Given the description of an element on the screen output the (x, y) to click on. 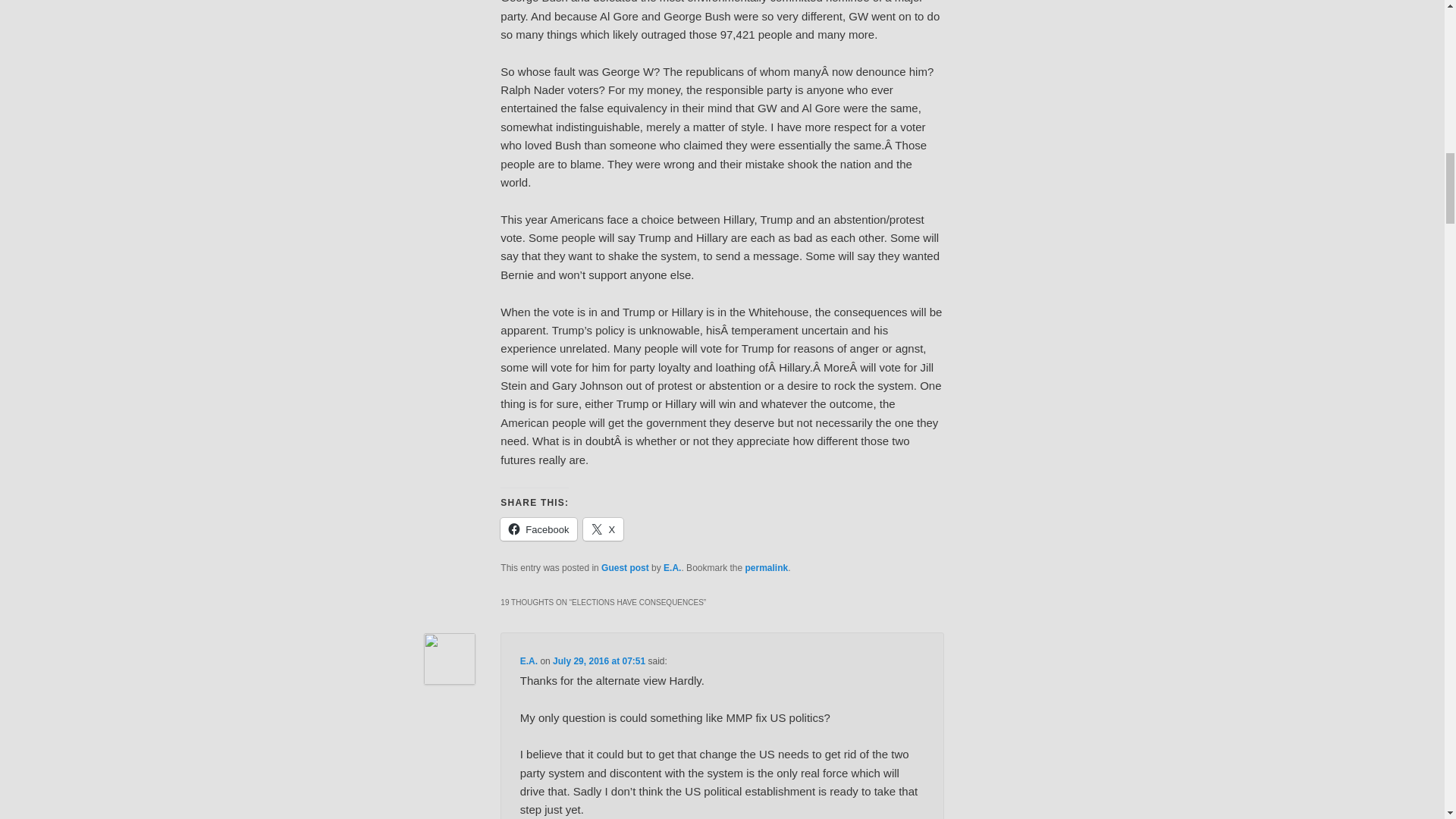
Click to share on X (603, 528)
Permalink to Elections have consequences (765, 567)
July 29, 2016 at 07:51 (599, 661)
E.A. (528, 661)
Click to share on Facebook (538, 528)
E.A. (672, 567)
Guest post (625, 567)
Facebook (538, 528)
X (603, 528)
permalink (765, 567)
